Given the description of an element on the screen output the (x, y) to click on. 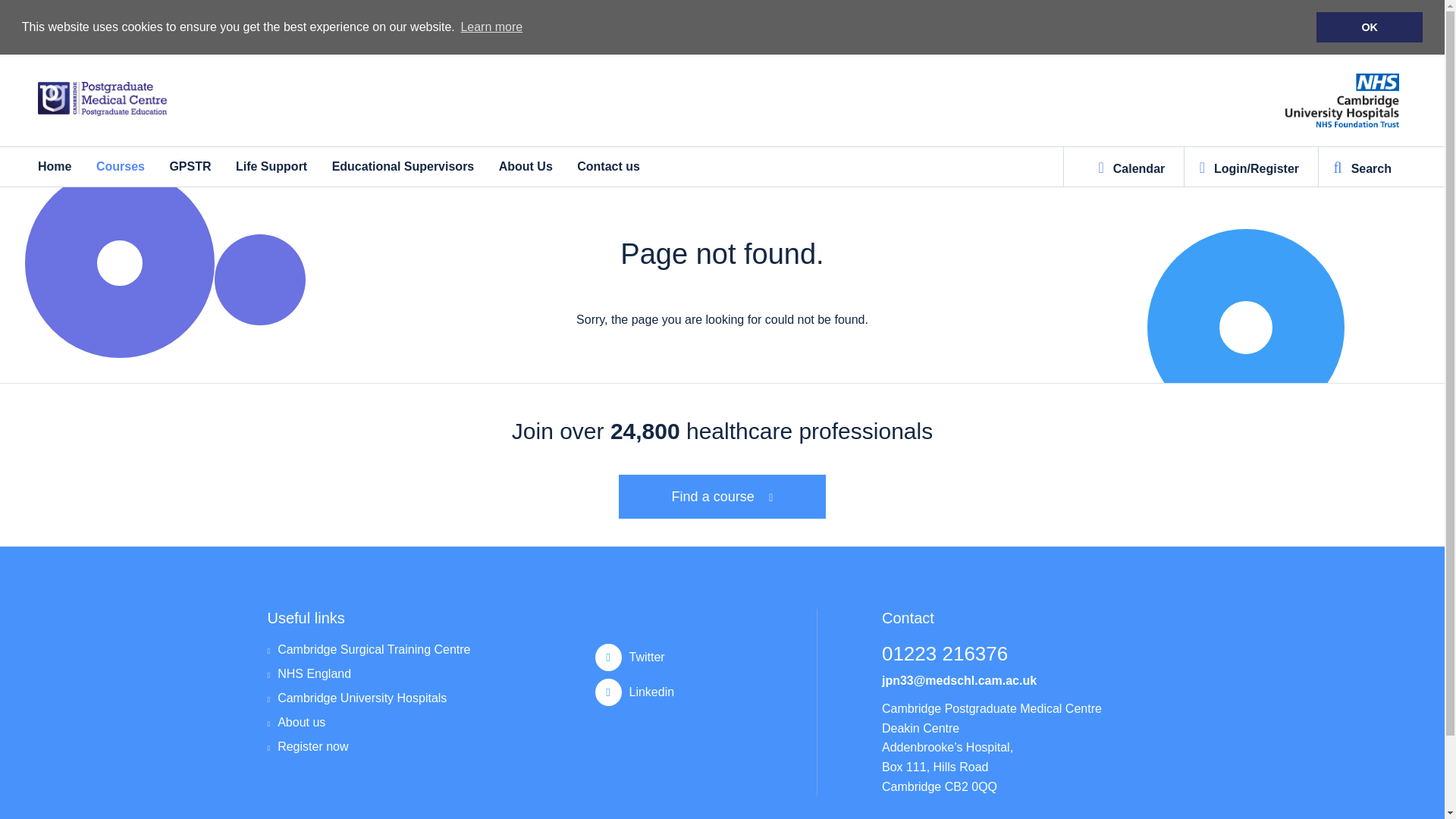
Life Support (271, 164)
About Us (526, 164)
Cambridge Surgical Training Centre (368, 655)
Courses (120, 164)
Cambridge University Hospitals (368, 704)
Calendar (1131, 166)
Twitter (703, 656)
Find a course (722, 496)
Home (54, 164)
OK (1369, 27)
